Given the description of an element on the screen output the (x, y) to click on. 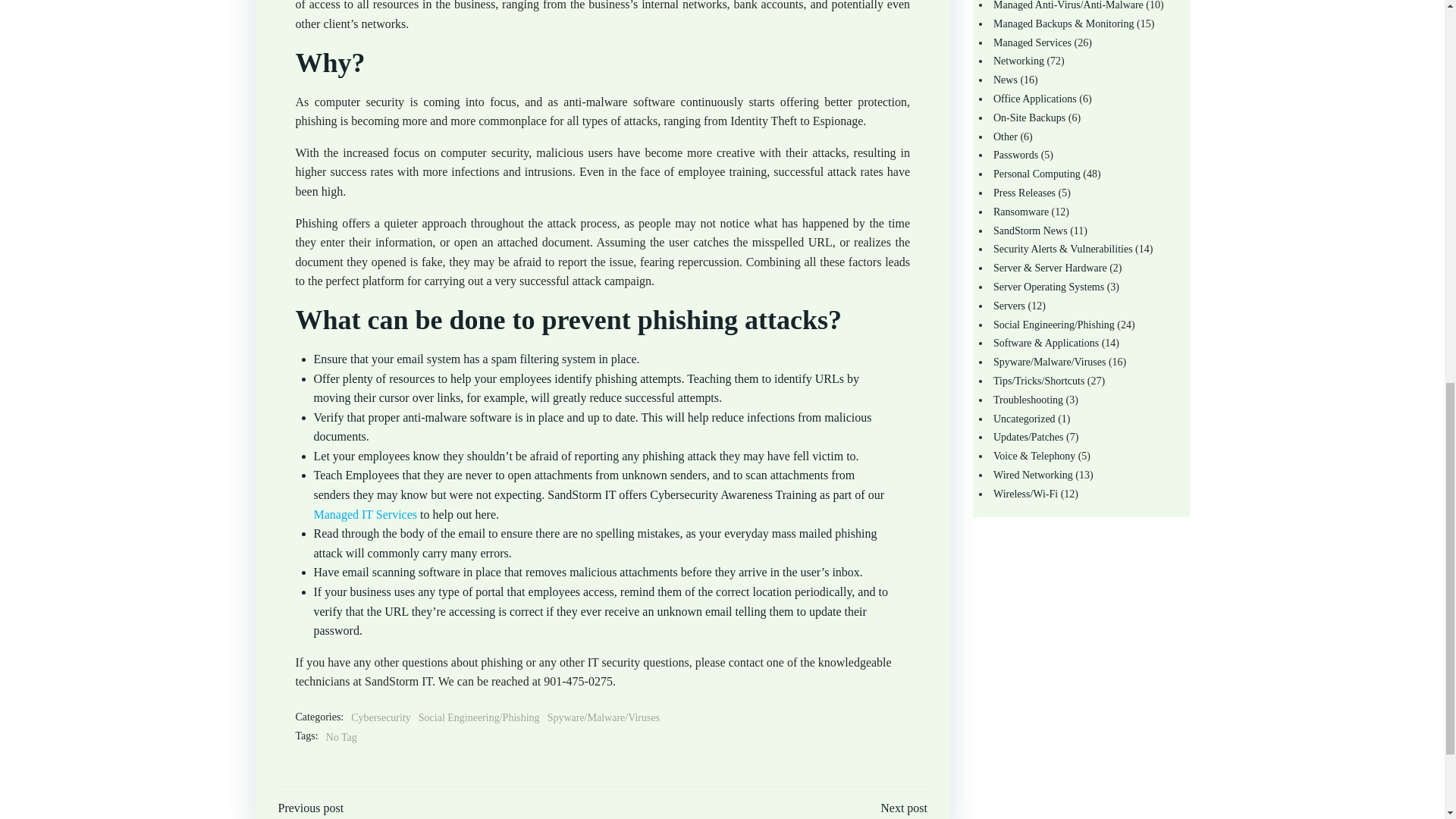
Cybersecurity (380, 718)
Next post (903, 808)
Managed IT Services (365, 513)
Previous post (310, 808)
